Given the description of an element on the screen output the (x, y) to click on. 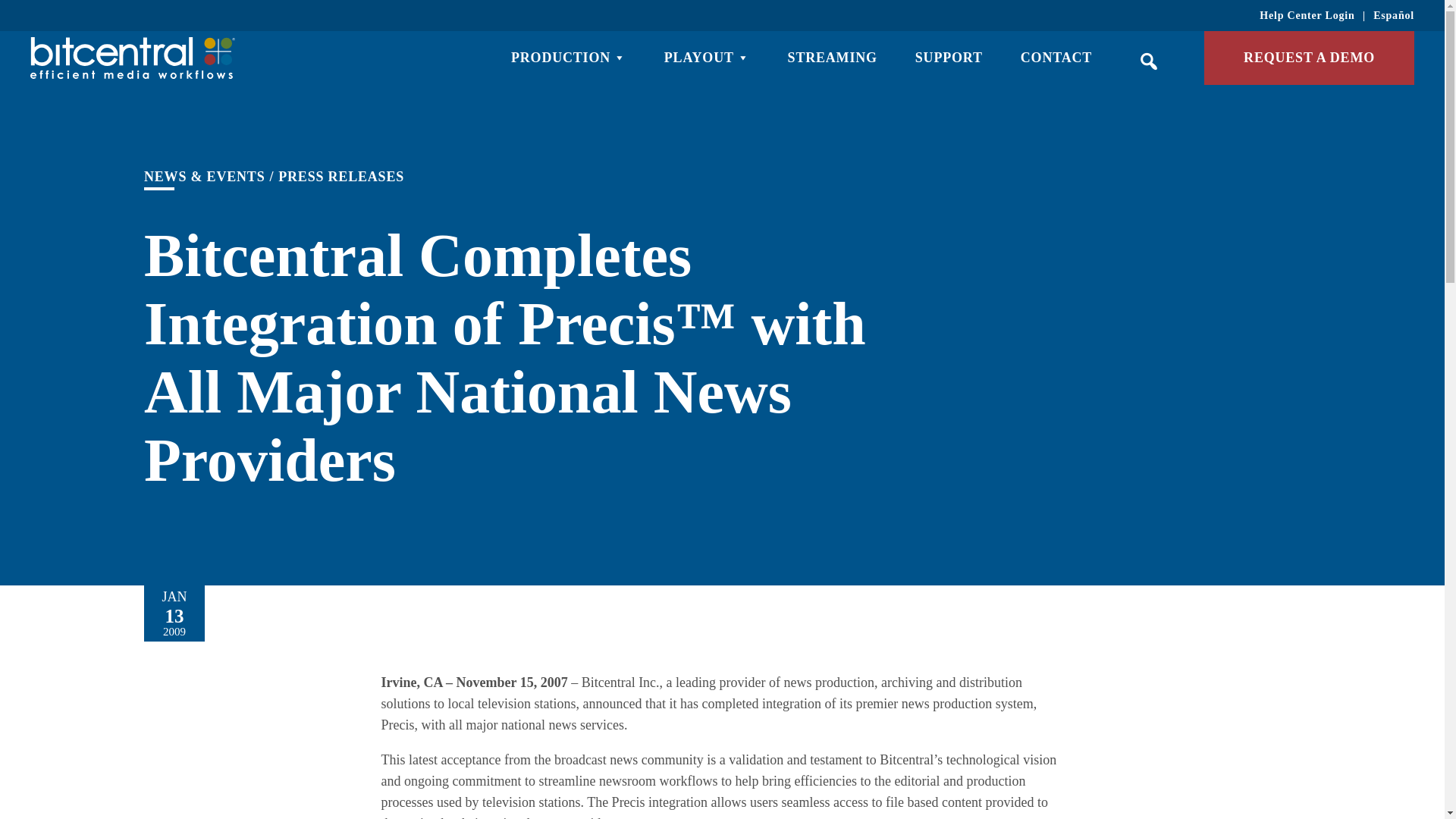
CONTACT (1056, 58)
SUPPORT (948, 58)
Help Center Login (1306, 15)
PRODUCTION (568, 58)
STREAMING (832, 58)
REQUEST A DEMO (1308, 58)
PRESS RELEASES (341, 177)
PLAYOUT (706, 58)
